Given the description of an element on the screen output the (x, y) to click on. 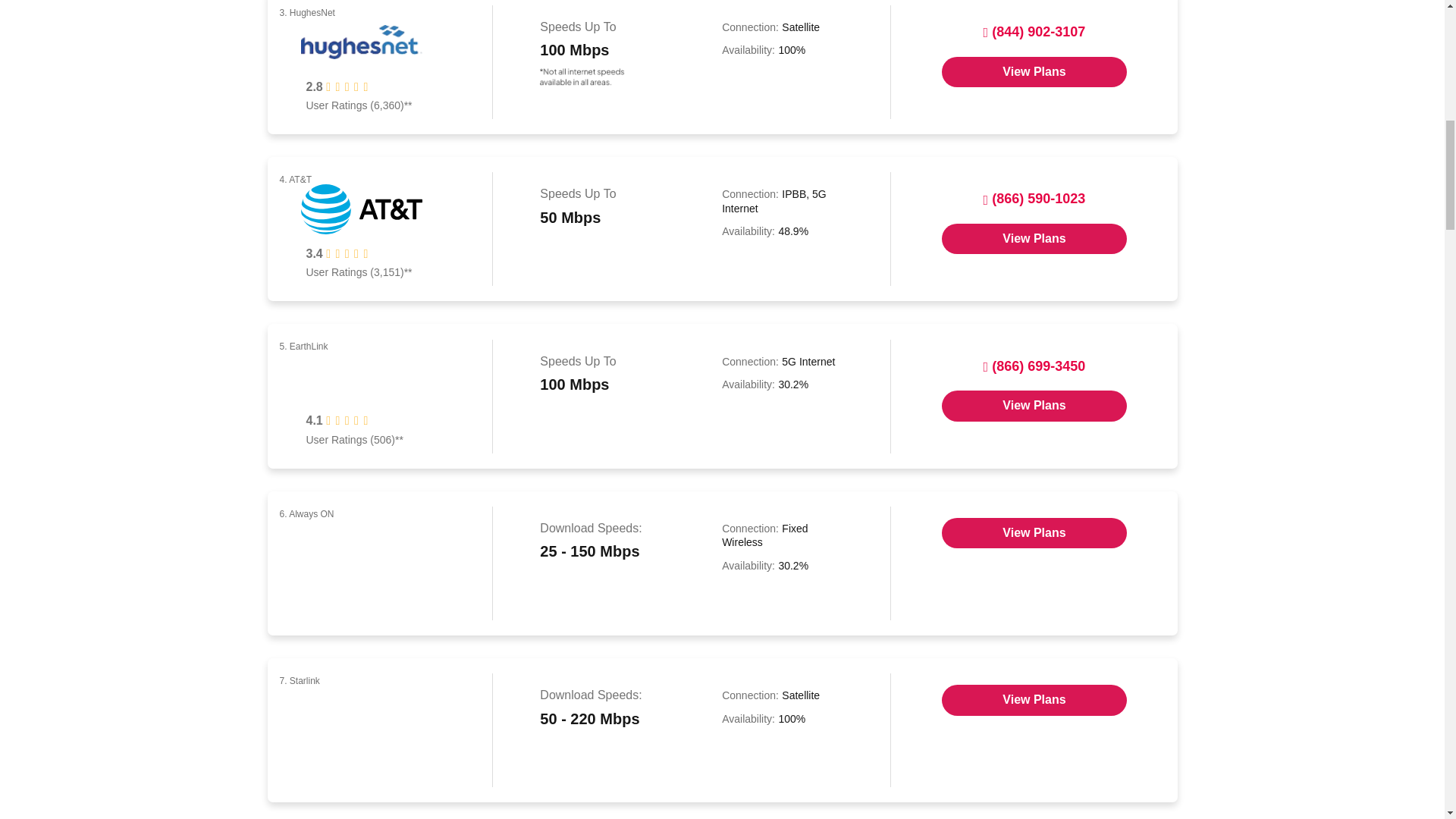
Opens in a new window (1034, 238)
Opens in a new window (1034, 71)
Opens in a new window (1034, 405)
Opens in a new window (1034, 699)
